Given the description of an element on the screen output the (x, y) to click on. 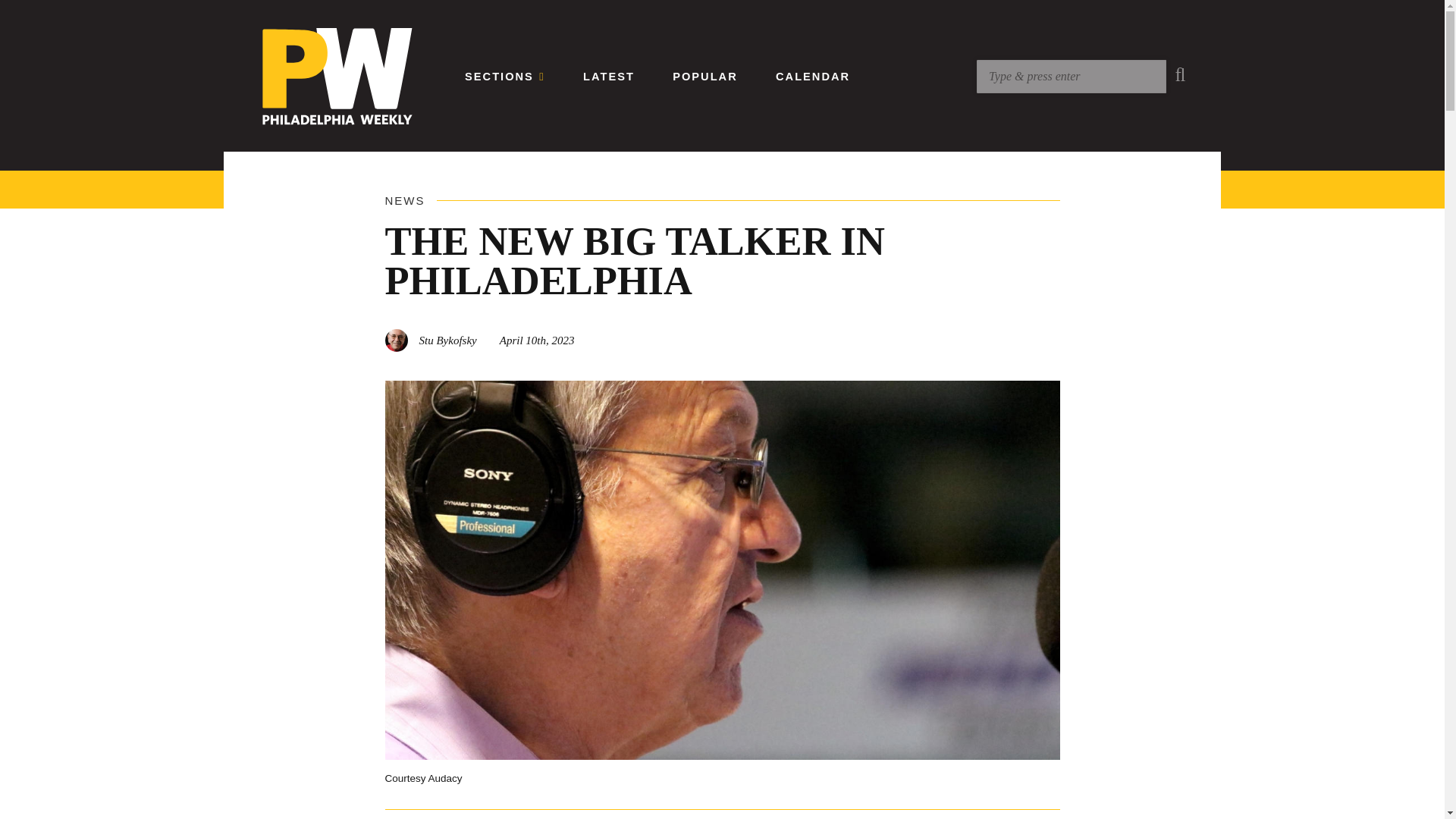
SECTIONS (504, 76)
POPULAR (705, 76)
LATEST (608, 76)
News (405, 199)
Search for: (1071, 76)
CALENDAR (813, 76)
